Given the description of an element on the screen output the (x, y) to click on. 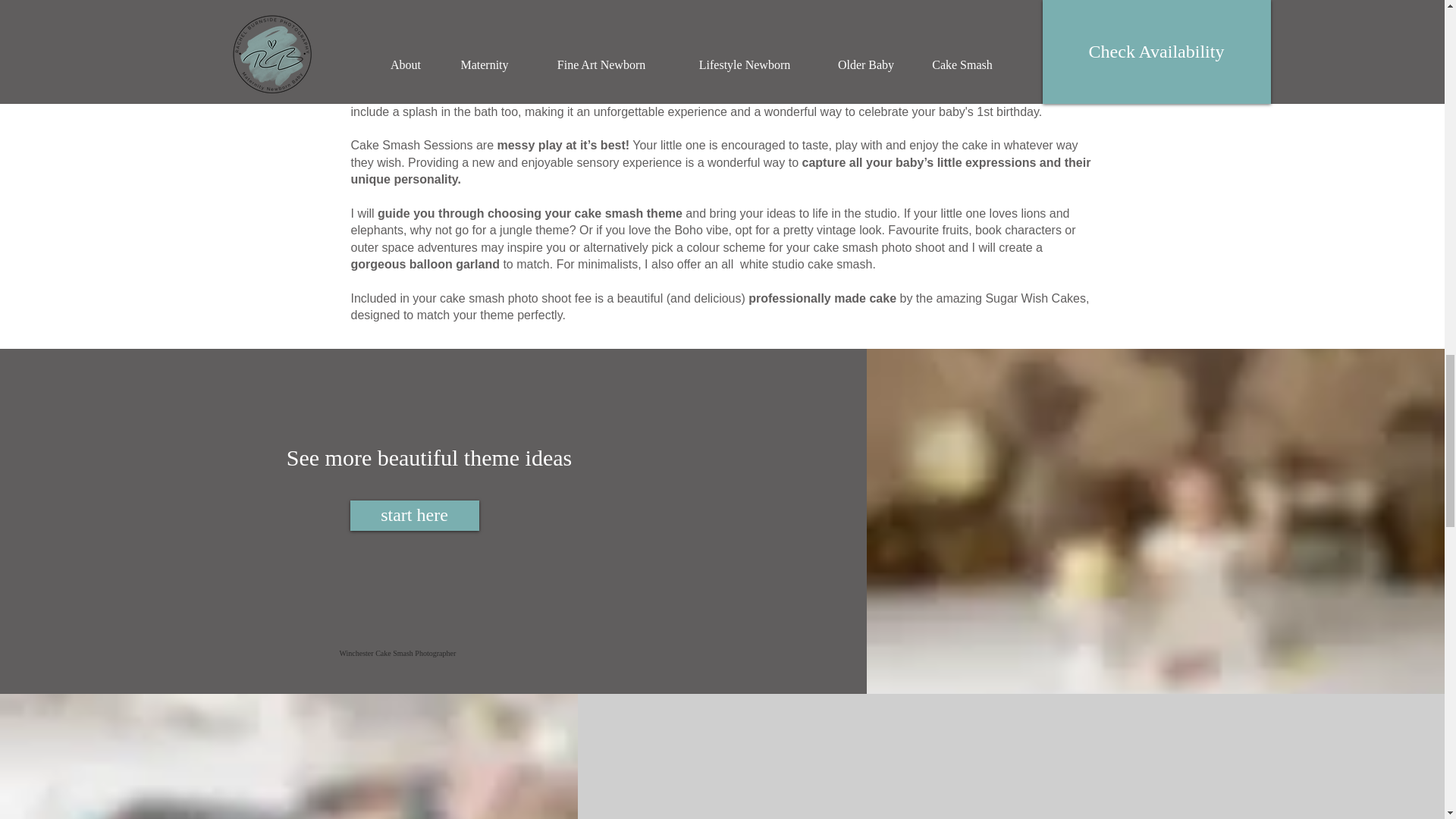
start here (414, 515)
